Given the description of an element on the screen output the (x, y) to click on. 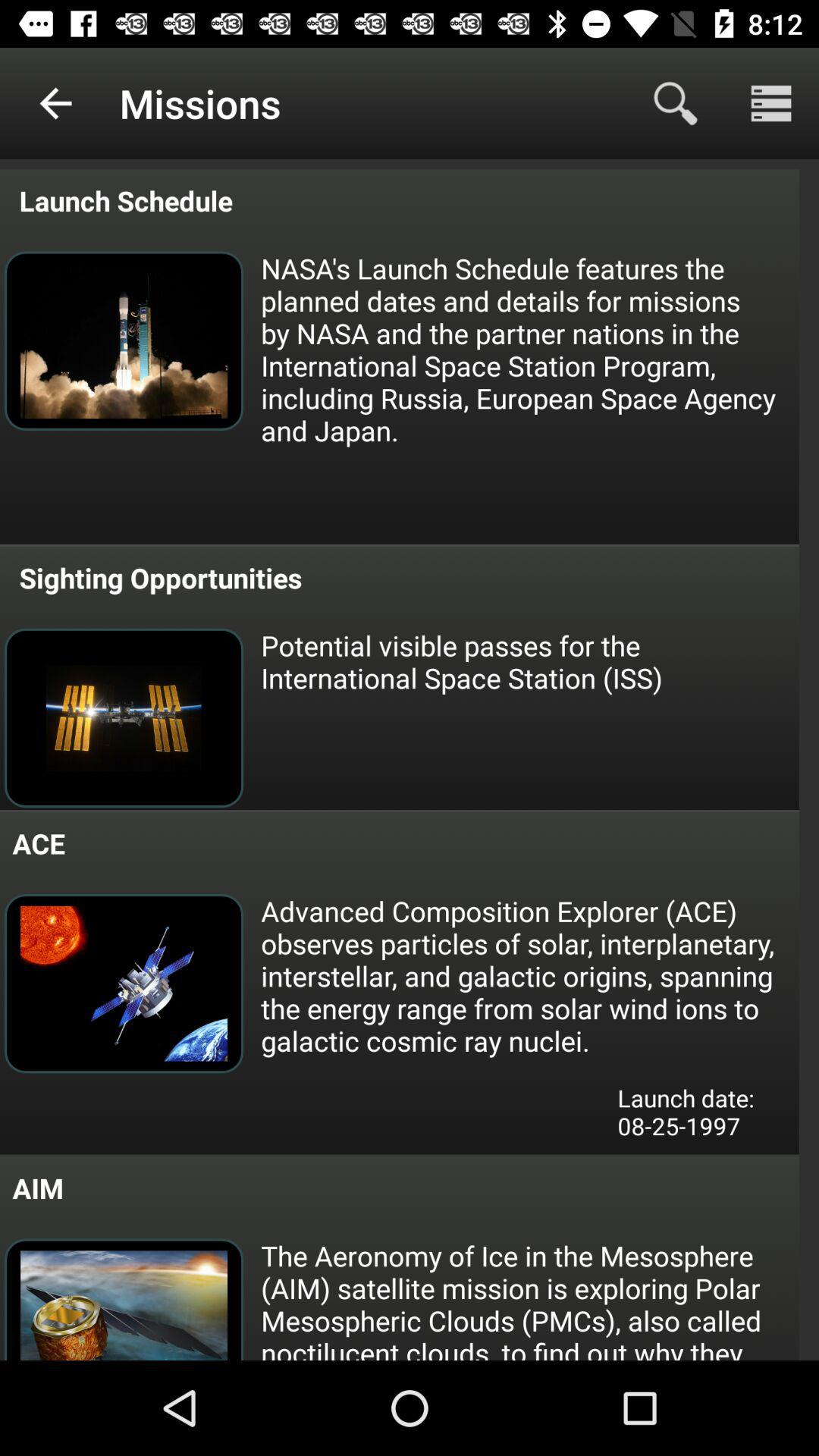
click icon below the  sighting opportunities item (528, 661)
